Given the description of an element on the screen output the (x, y) to click on. 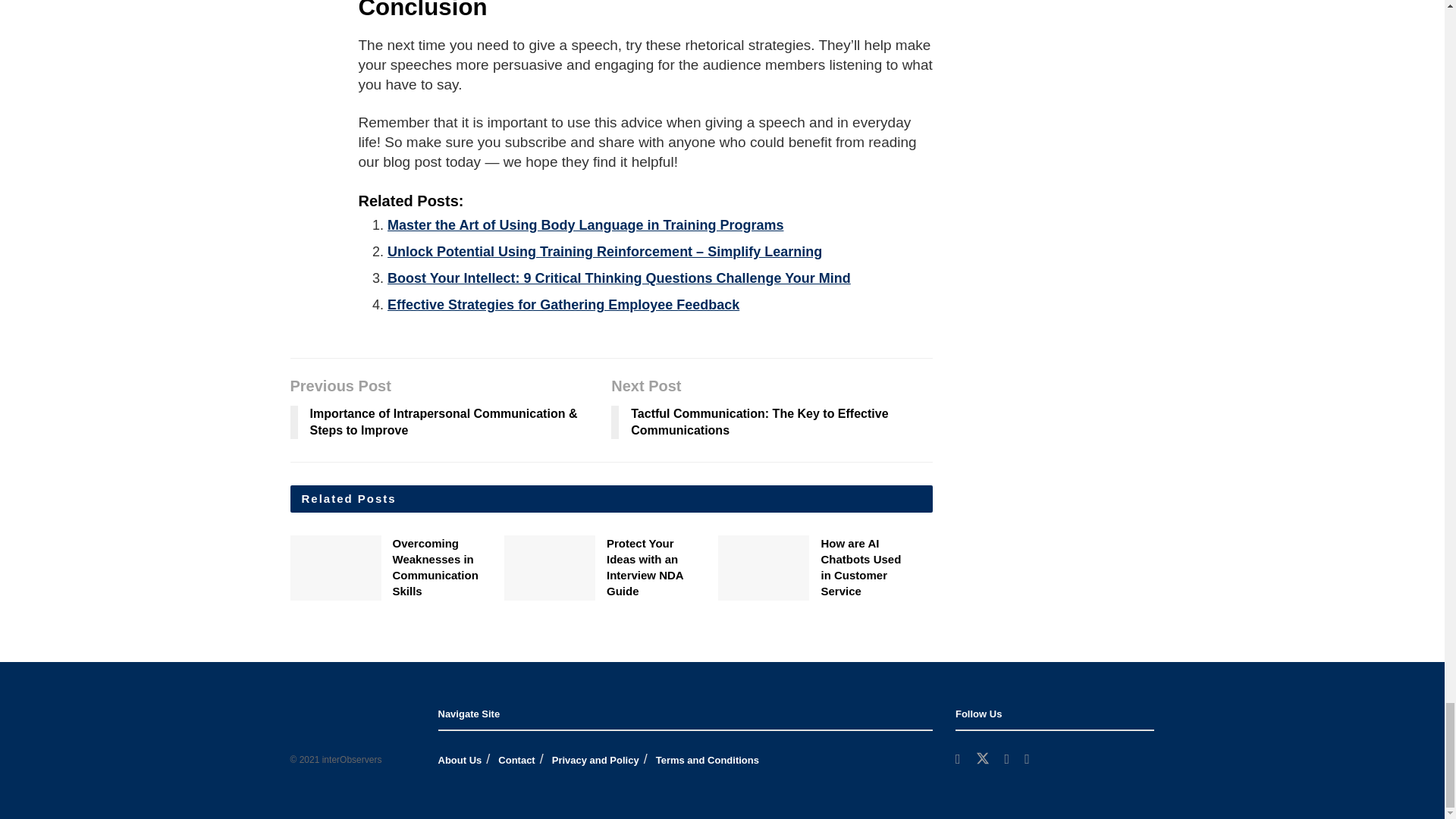
Next (944, 572)
Effective Strategies for Gathering Employee Feedback (563, 304)
Master the Art of Using Body Language in Training Programs (585, 224)
Previous (944, 548)
